Given the description of an element on the screen output the (x, y) to click on. 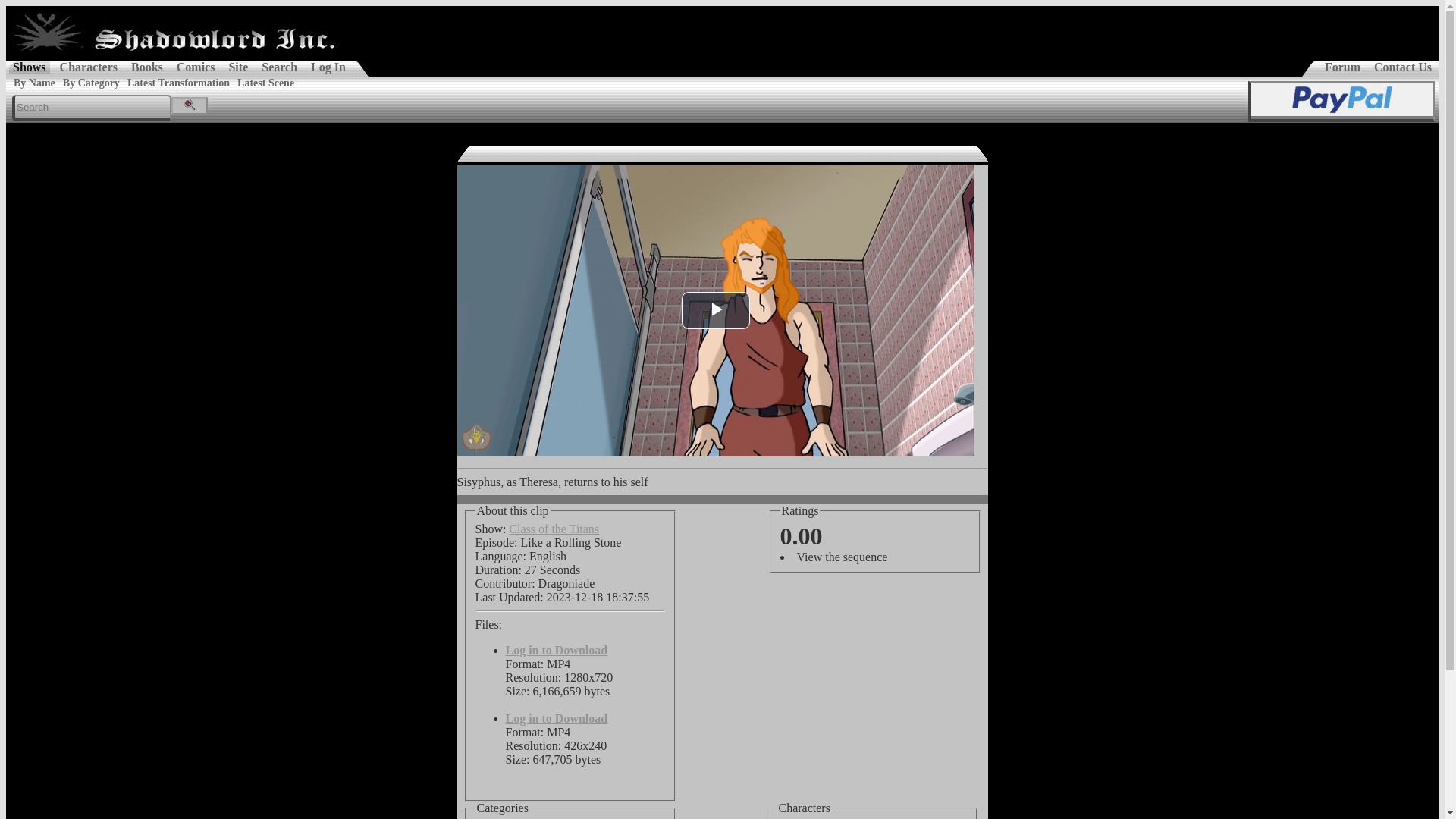
Log in to Download (556, 717)
By Name (34, 82)
Books (147, 66)
Shows (28, 66)
Log in to Download (556, 649)
By Category (91, 82)
Site (237, 66)
Forum (1342, 66)
Log In (328, 66)
Play Video (715, 310)
Comics (196, 66)
Characters (88, 66)
Sisyphus (803, 807)
Latest Transformation (177, 82)
Search (279, 66)
